Given the description of an element on the screen output the (x, y) to click on. 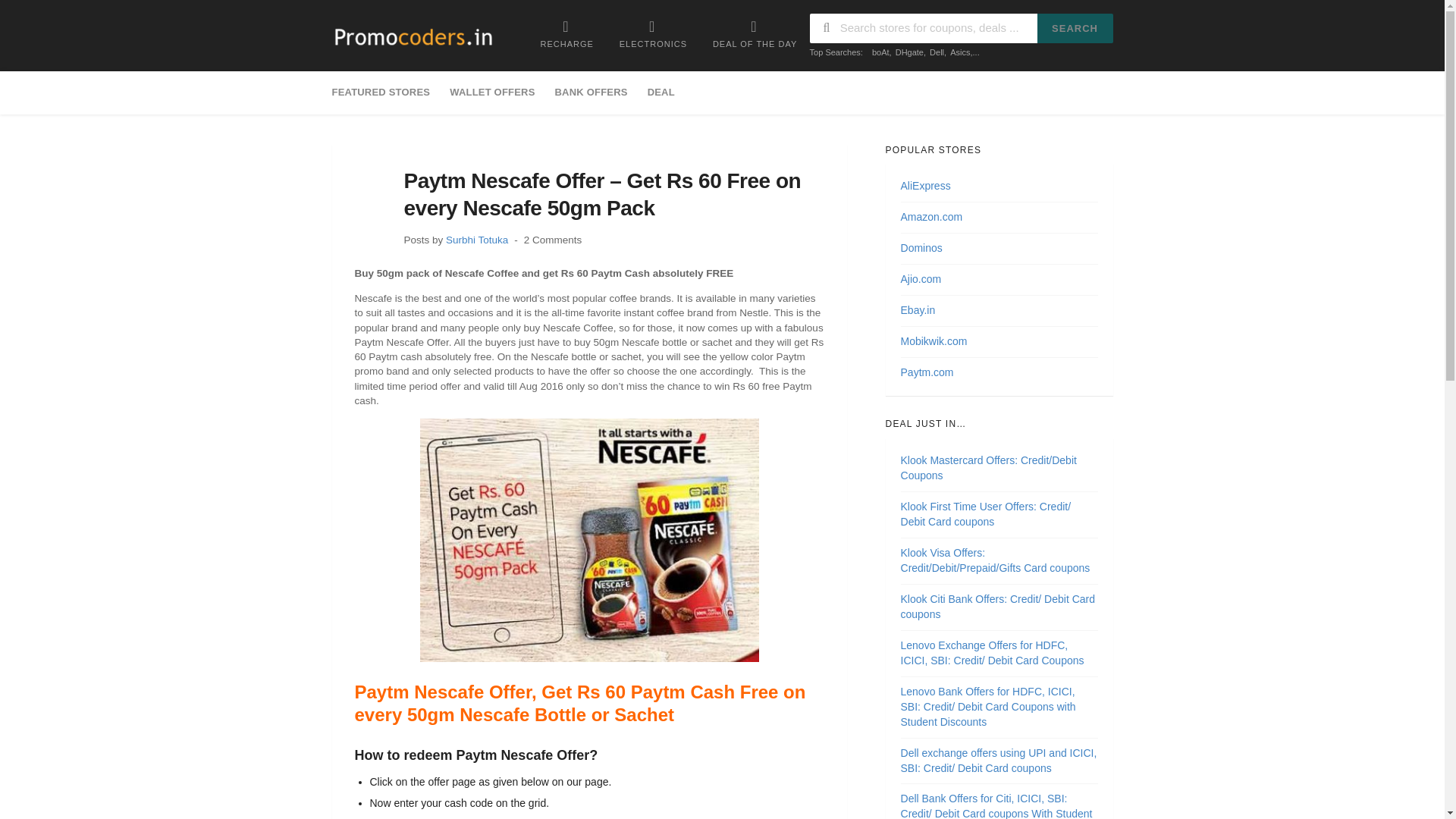
BANK OFFERS (590, 92)
FEATURED STORES (386, 92)
Asics (959, 51)
Surbhi Totuka (476, 239)
Amazon.com (931, 216)
DEAL (660, 92)
AliExpress (925, 185)
Promo Code (413, 37)
RECHARGE (566, 33)
Ebay.in (918, 309)
DEAL OF THE DAY (754, 33)
WALLET OFFERS (491, 92)
Dell (936, 51)
Mobikwik.com (934, 340)
Ajio.com (921, 278)
